Given the description of an element on the screen output the (x, y) to click on. 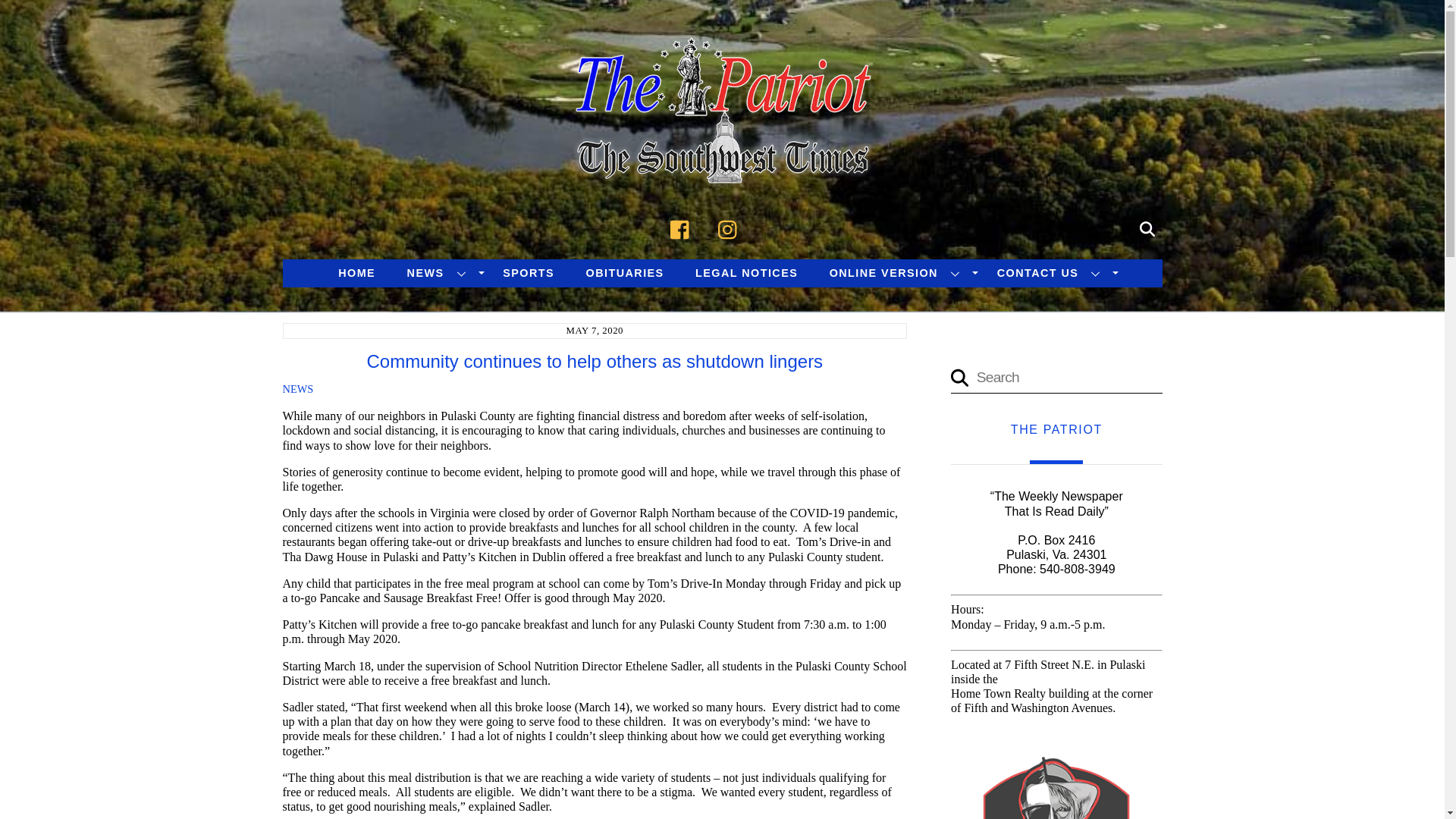
SPORTS (528, 272)
OBITUARIES (624, 272)
LEGAL NOTICES (745, 272)
HOME (356, 272)
NEWS (297, 388)
Search (1146, 227)
Search (1055, 377)
Patriot Publishing LLC (721, 165)
NEWS (439, 272)
CONTACT US (1051, 272)
ONLINE VERSION (897, 272)
